Given the description of an element on the screen output the (x, y) to click on. 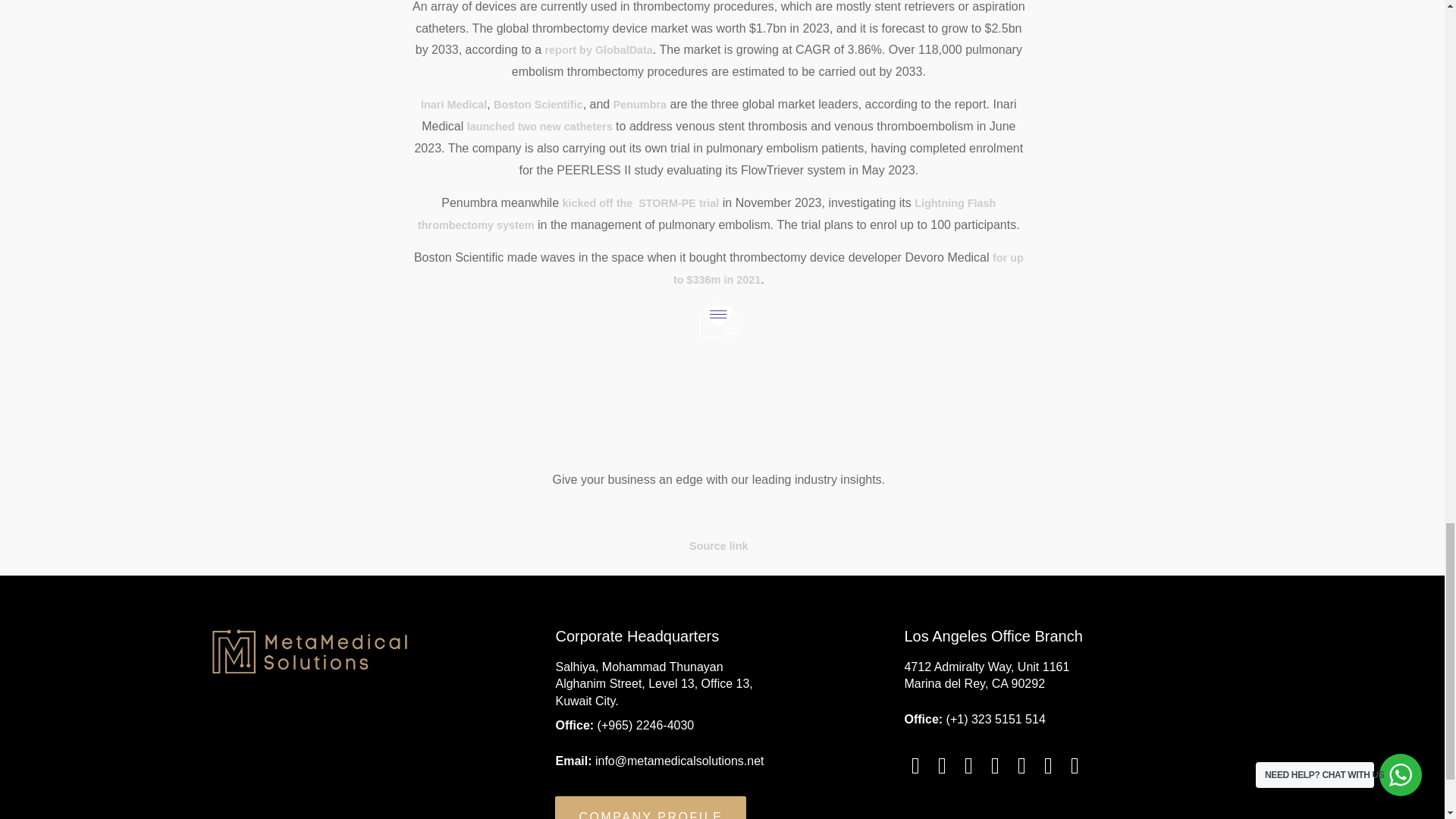
Lightning Flash thrombectomy system (706, 213)
COMPANY PROFILE (649, 807)
Inari Medical (453, 104)
Penumbra (639, 104)
launched two new catheters (539, 126)
Source link (718, 545)
Boston Scientific (538, 104)
report by GlobalData (598, 50)
kicked off the  STORM-PE trial (640, 203)
